Given the description of an element on the screen output the (x, y) to click on. 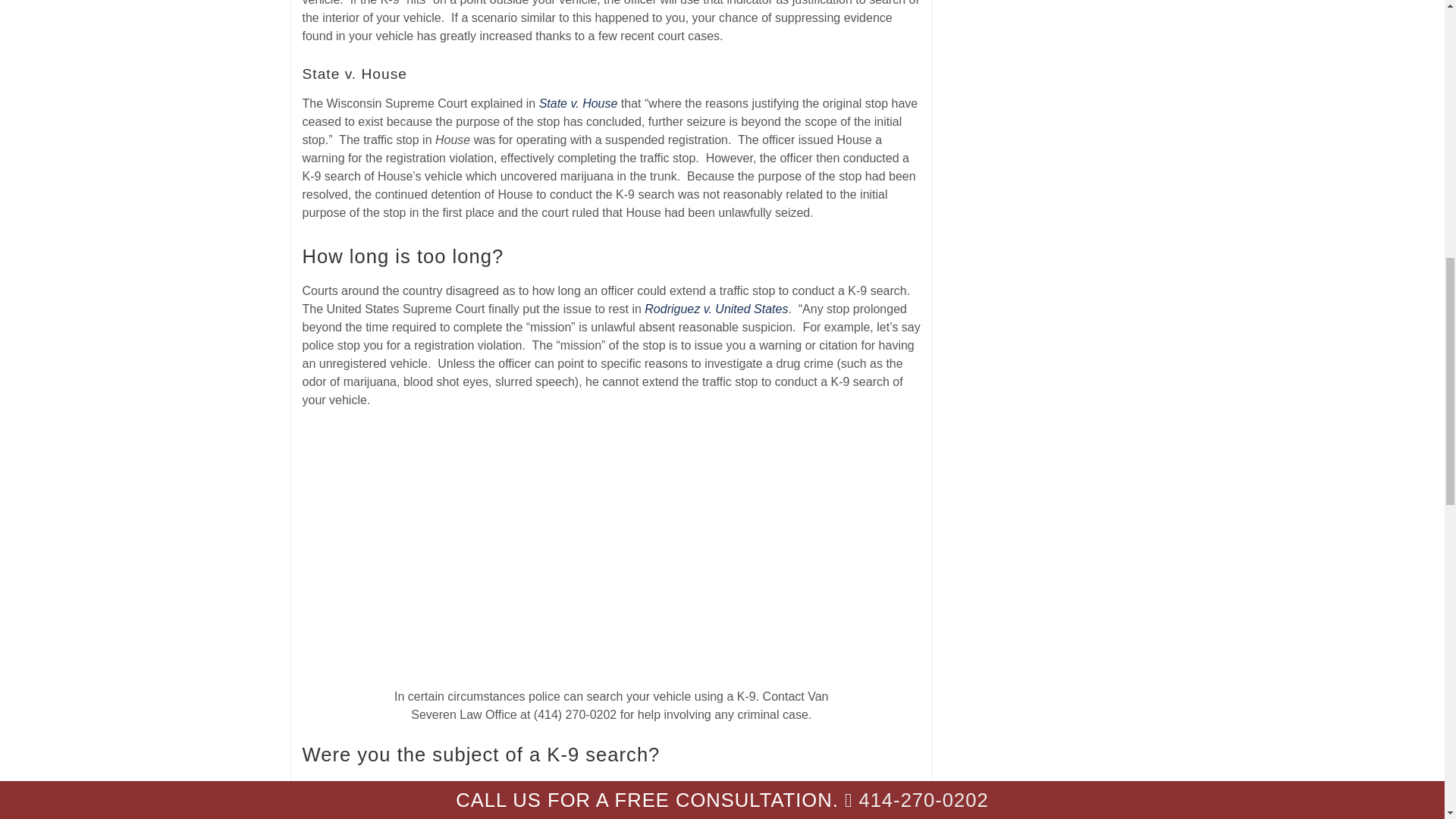
Police prepare for a K-9 search of a vehicle. (611, 549)
